Given the description of an element on the screen output the (x, y) to click on. 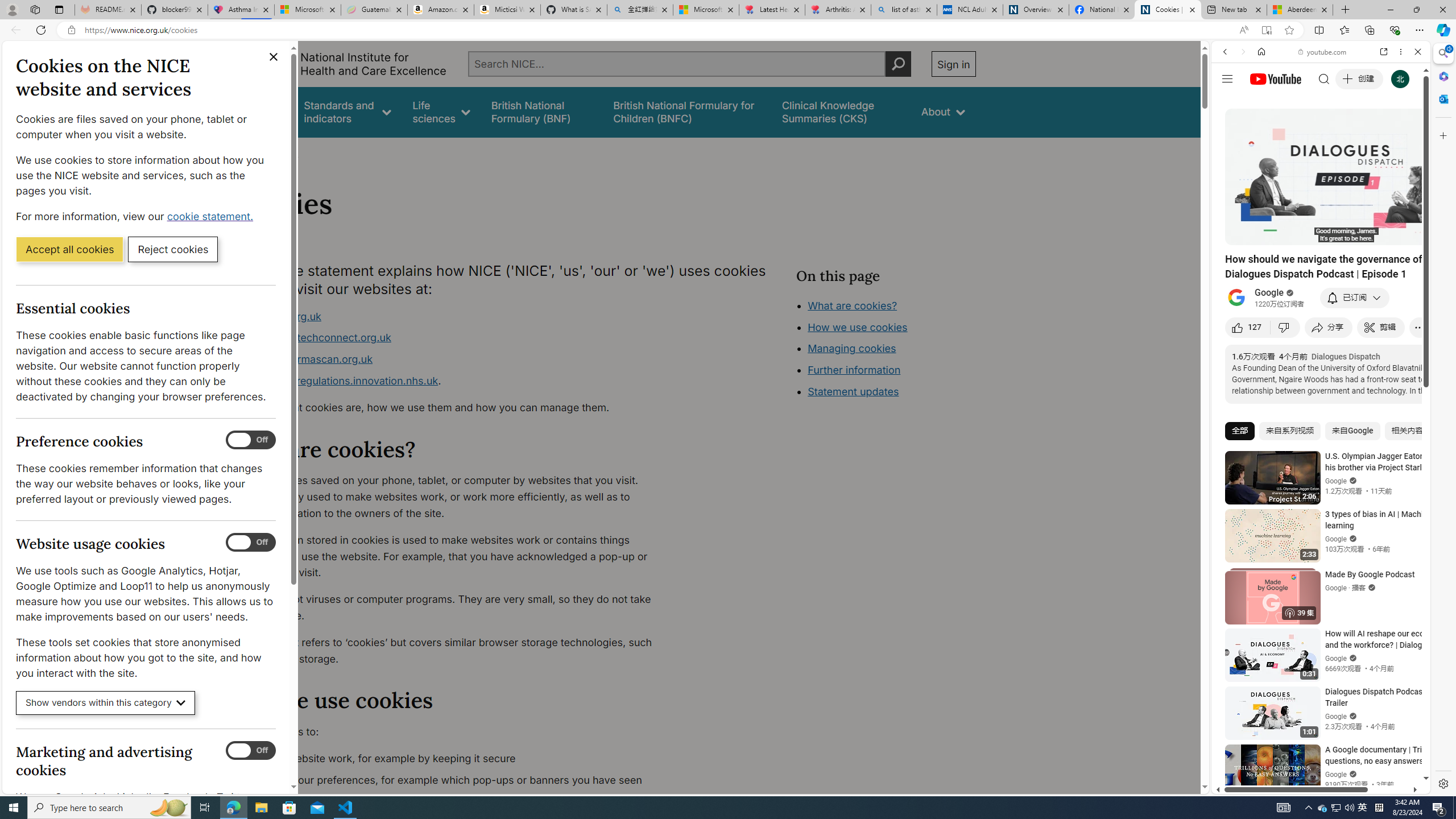
Aberdeen, Hong Kong SAR hourly forecast | Microsoft Weather (1300, 9)
YouTube (1315, 655)
YouTube - YouTube (1315, 560)
Actions for this site (1371, 661)
SEARCH TOOLS (1350, 130)
This site scope (1259, 102)
Close Customize pane (1442, 135)
Microsoft-Report a Concern to Bing (307, 9)
